Given the description of an element on the screen output the (x, y) to click on. 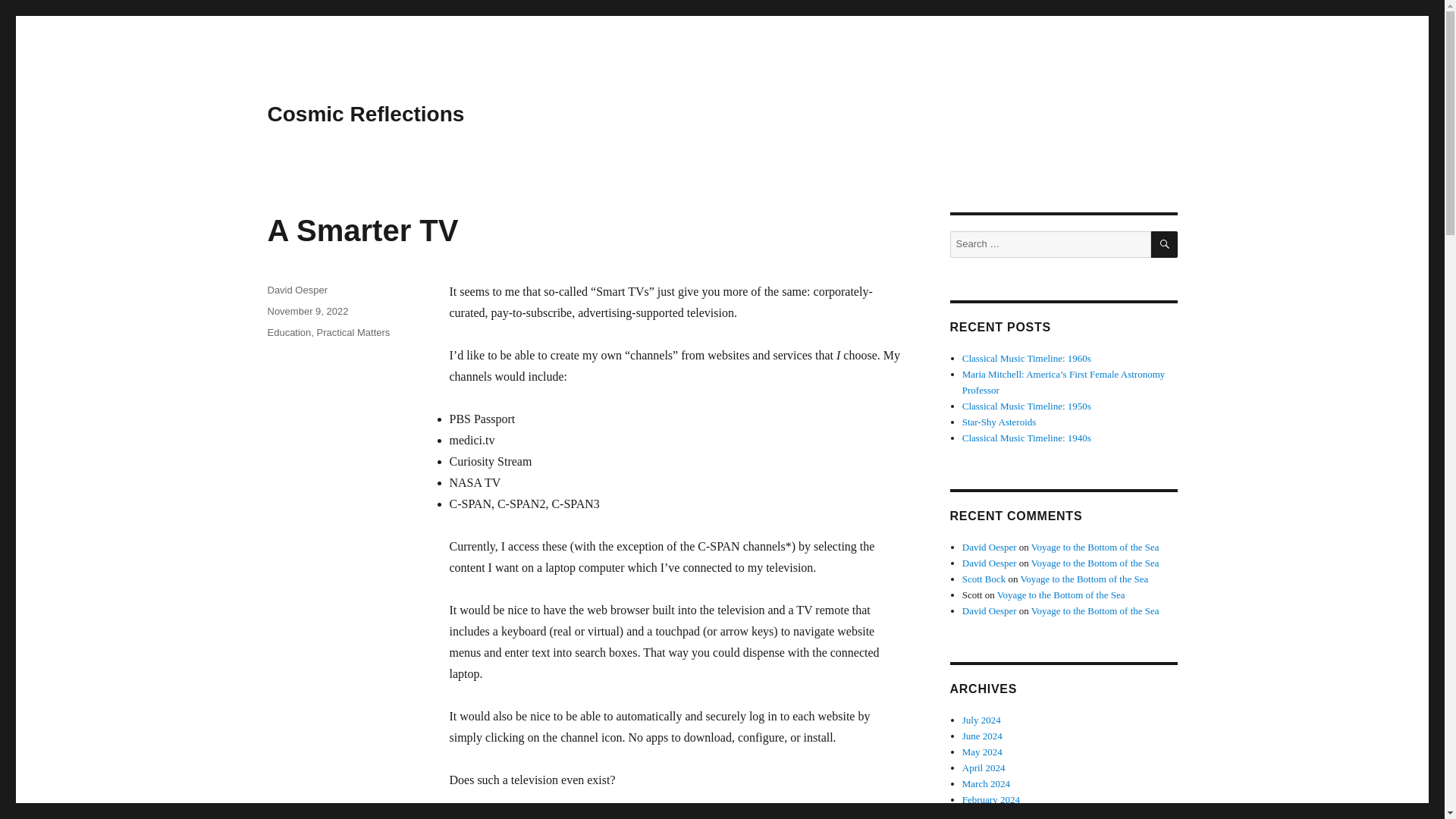
Scott Bock (984, 578)
Classical Music Timeline: 1940s (1026, 437)
Voyage to the Bottom of the Sea (1084, 578)
Voyage to the Bottom of the Sea (1094, 562)
June 2024 (982, 736)
David Oesper (989, 546)
Cosmic Reflections (365, 114)
Star-Shy Asteroids (999, 421)
March 2024 (986, 783)
Voyage to the Bottom of the Sea (1061, 594)
David Oesper (989, 610)
Classical Music Timeline: 1950s (1026, 405)
David Oesper (296, 289)
Education (288, 332)
November 9, 2022 (306, 310)
